Given the description of an element on the screen output the (x, y) to click on. 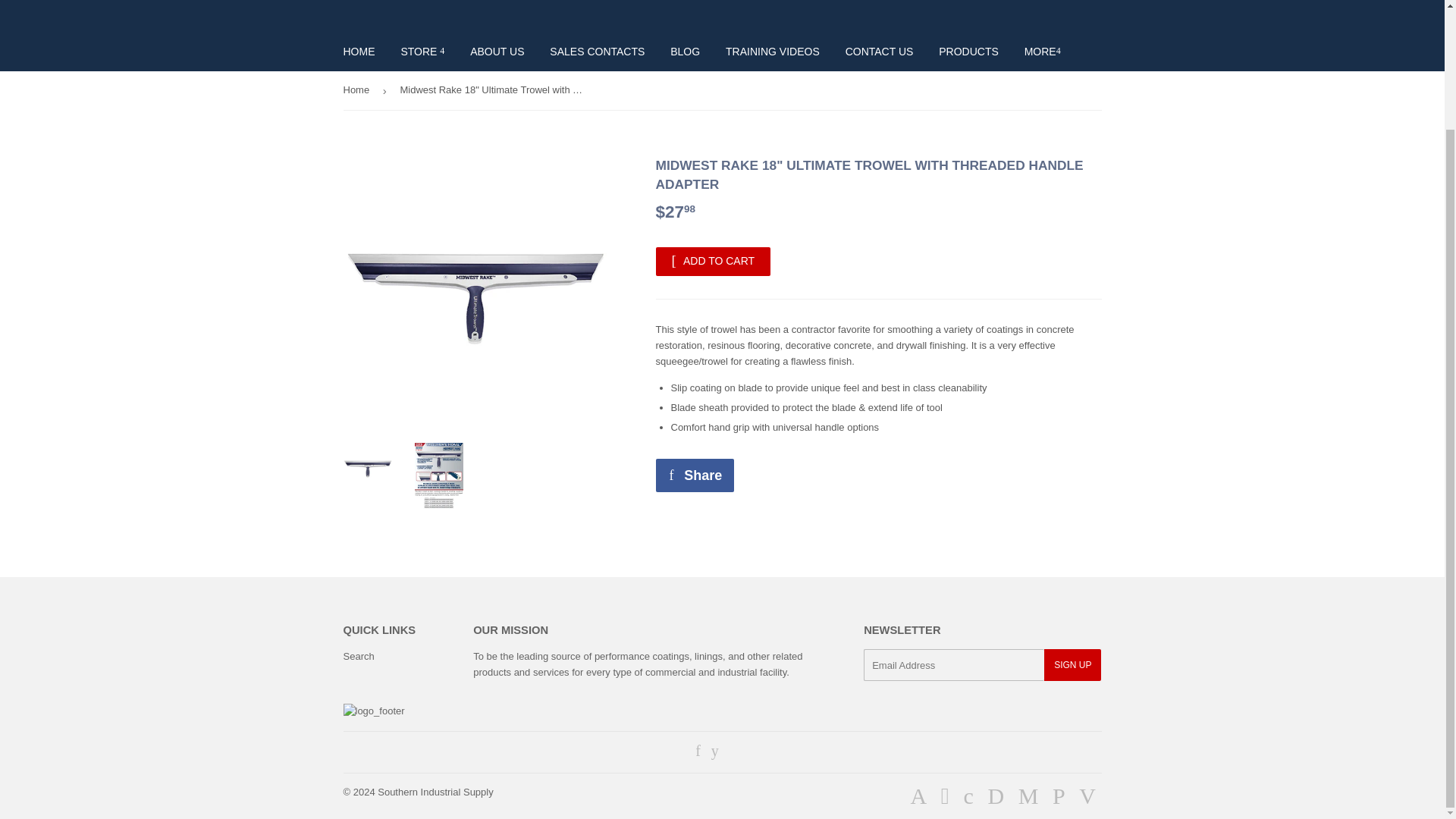
ABOUT US (496, 51)
HOME (359, 51)
SALES CONTACTS (597, 51)
PRODUCTS (968, 51)
BLOG (685, 51)
Share on Facebook (694, 475)
TRAINING VIDEOS (772, 51)
STORE (421, 51)
MORE (1042, 51)
CONTACT US (879, 51)
